Given the description of an element on the screen output the (x, y) to click on. 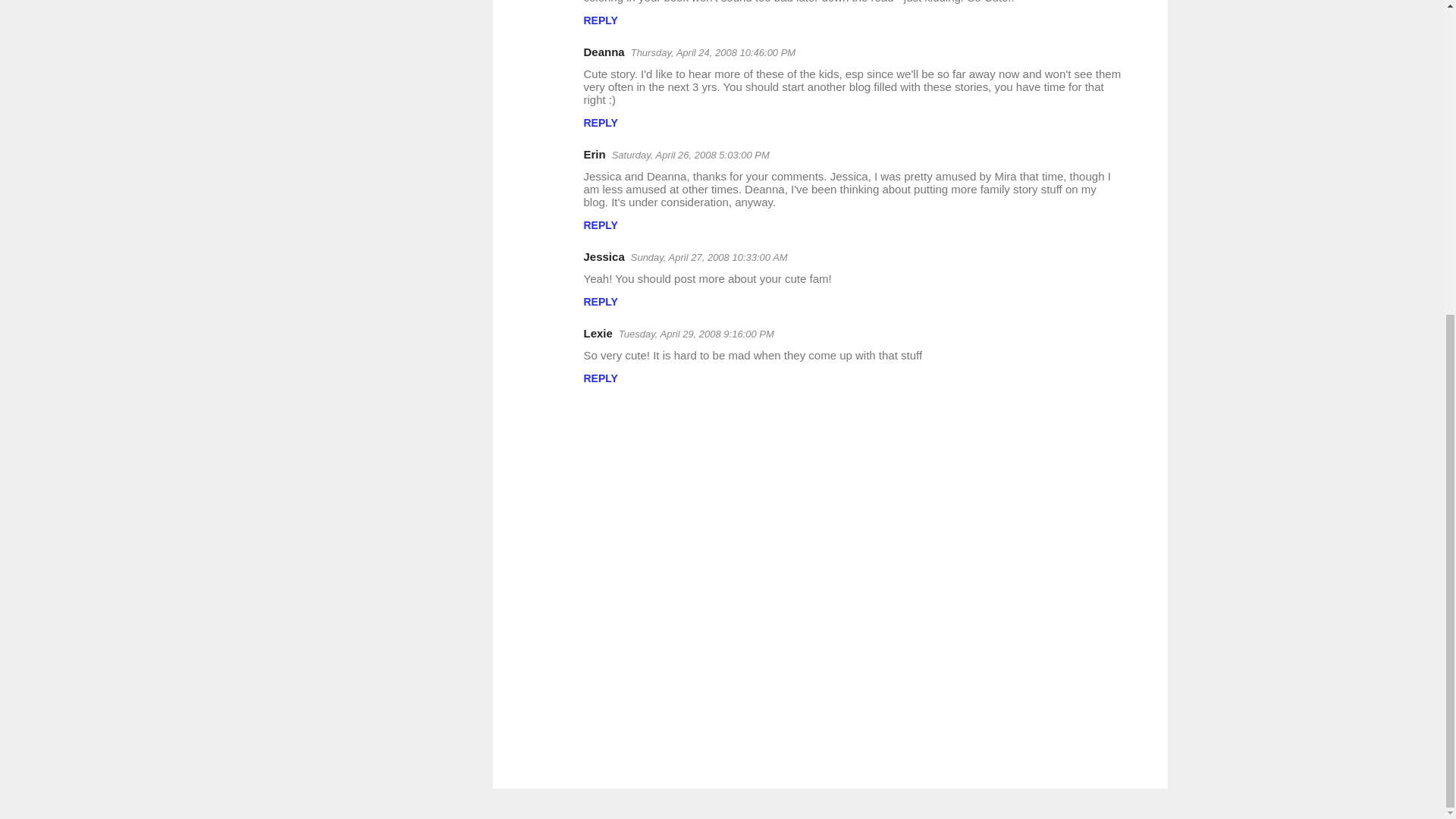
REPLY (600, 224)
REPLY (600, 122)
REPLY (600, 20)
REPLY (600, 378)
Saturday, April 26, 2008 5:03:00 PM (690, 154)
Sunday, April 27, 2008 10:33:00 AM (708, 256)
Thursday, April 24, 2008 10:46:00 PM (713, 52)
REPLY (600, 301)
Tuesday, April 29, 2008 9:16:00 PM (696, 333)
